Given the description of an element on the screen output the (x, y) to click on. 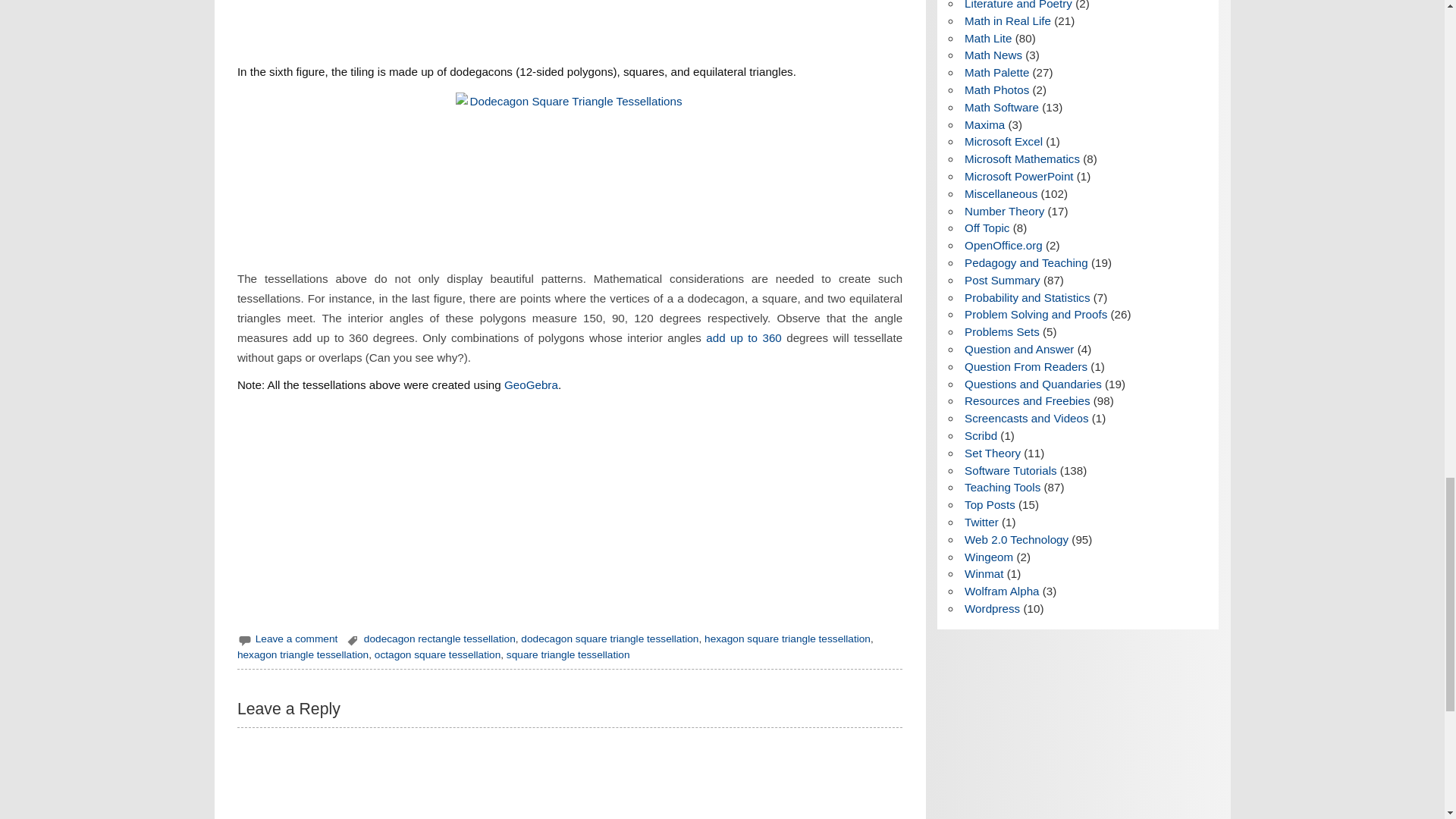
GeoGebra (530, 384)
square triangle tessellation (568, 654)
octagon square tessellation (437, 654)
hexagon triangle tessellation (302, 654)
Hexagon Triangle Tessellation (569, 25)
dodecagon rectangle tessellation (439, 638)
dodecagon square triangle tessellation (609, 638)
Leave a comment (296, 638)
Comment Form (569, 781)
add up to 360 (743, 337)
Dodecagon Square Triangle Tessellation (569, 174)
hexagon square triangle tessellation (787, 638)
